Given the description of an element on the screen output the (x, y) to click on. 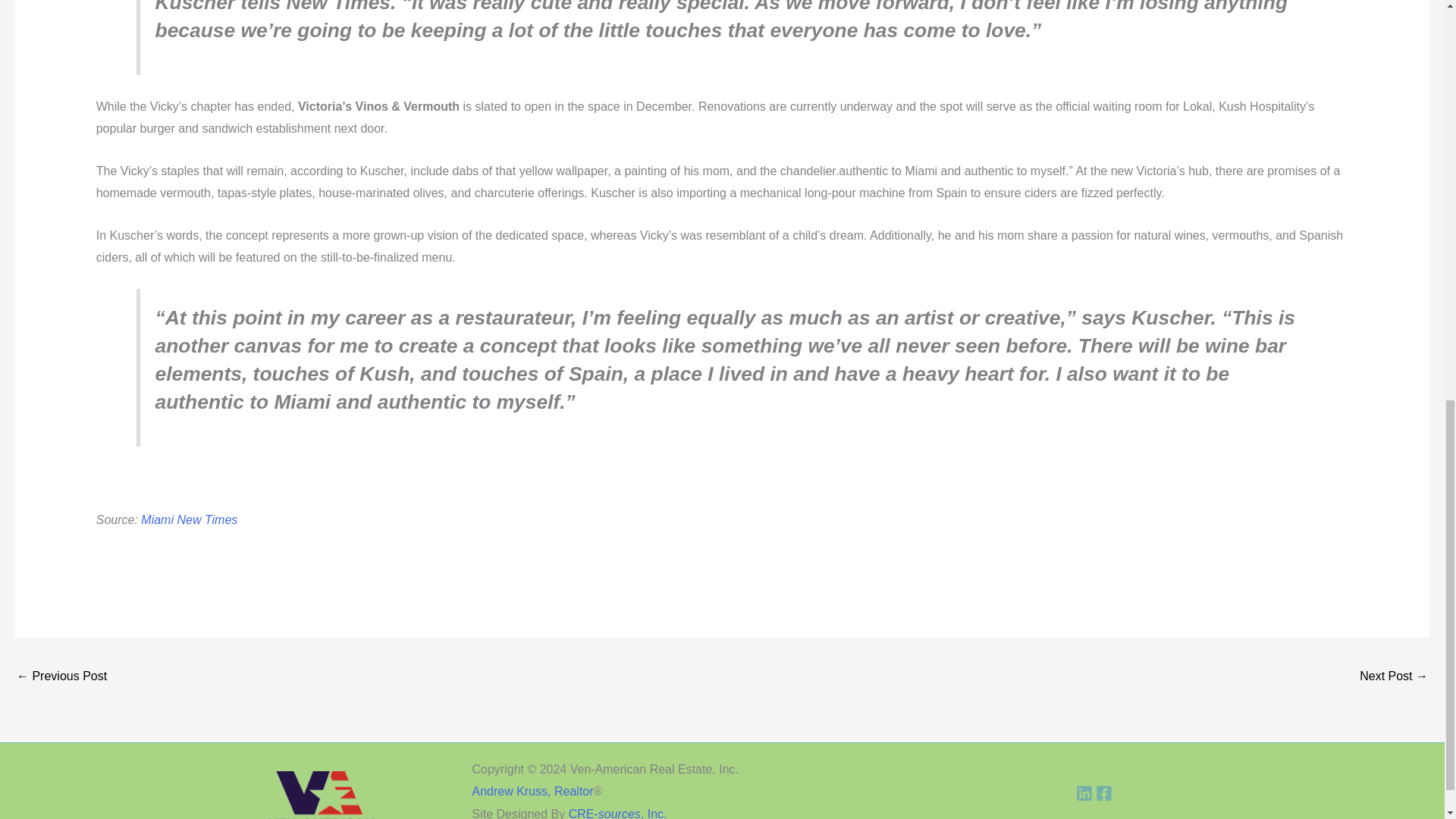
CRE-sources, Inc. (617, 813)
Miami New Times (189, 519)
Andrew Kruss, Realtor (531, 790)
